Given the description of an element on the screen output the (x, y) to click on. 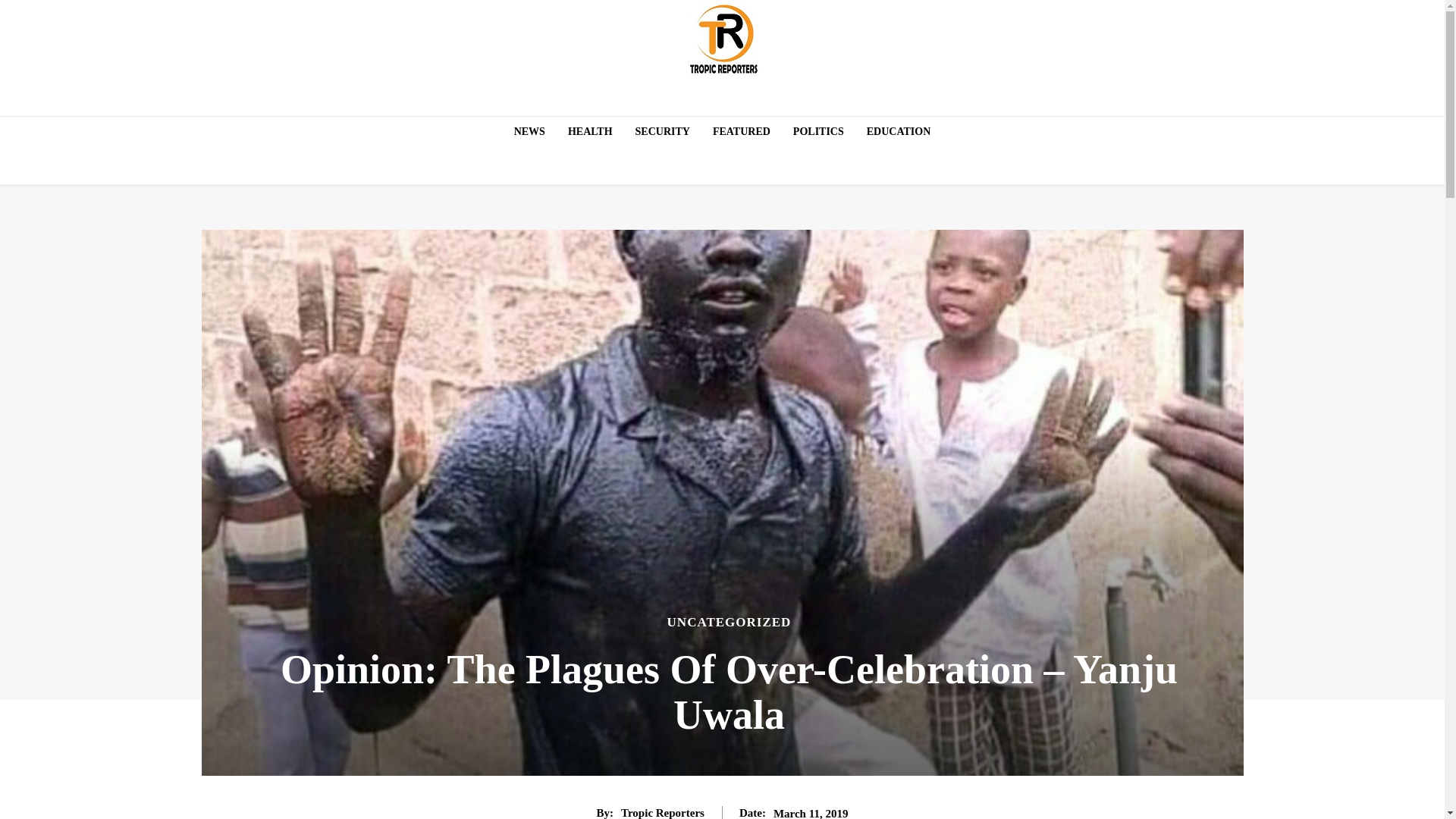
HEALTH (590, 132)
NEWS (529, 132)
FEATURED (740, 132)
UNCATEGORIZED (729, 621)
EDUCATION (899, 132)
Tropic Reporters (662, 812)
SECURITY (662, 132)
POLITICS (818, 132)
